Given the description of an element on the screen output the (x, y) to click on. 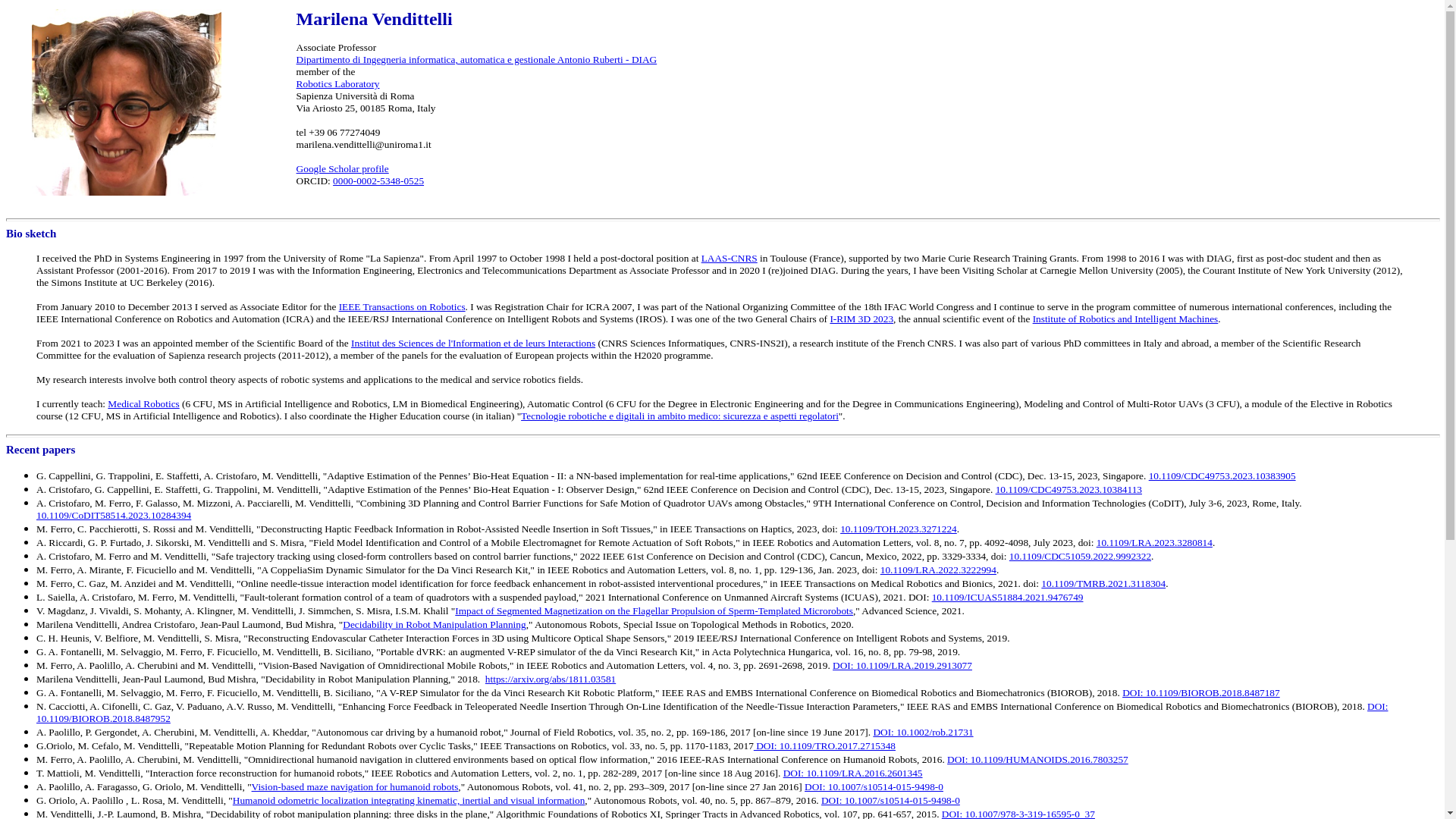
Google Scholar profile (342, 168)
Robotics Laboratory (338, 83)
I-RIM 3D 2023 (861, 318)
IEEE Transactions on Robotics (402, 306)
Vision-based maze navigation for humanoid robots (354, 786)
LAAS-CNRS (729, 257)
Institute of Robotics and Intelligent Machines (1125, 318)
Decidability in Robot Manipulation Planning (433, 624)
Medical Robotics (143, 403)
0000-0002-5348-0525 (378, 180)
